Given the description of an element on the screen output the (x, y) to click on. 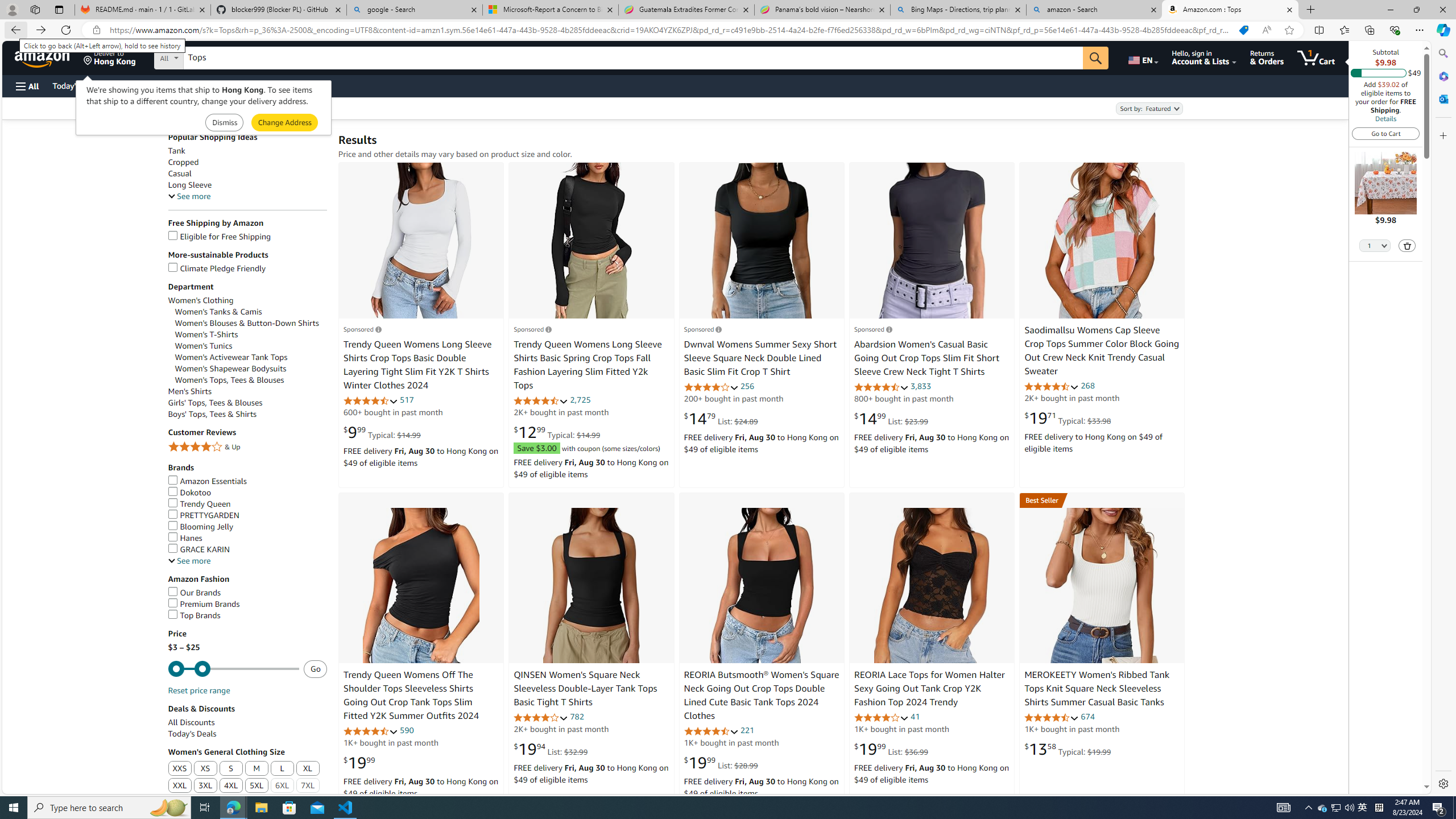
$14.99 List: $23.99 (890, 418)
Boys' Tops, Tees & Shirts (247, 414)
Today's Deals (191, 733)
4.0 out of 5 stars (880, 717)
Women's T-Shirts (206, 334)
Girls' Tops, Tees & Blouses (214, 402)
Women's Shapewear Bodysuits (230, 368)
View Sponsored information or leave ad feedback (872, 329)
PRETTYGARDEN (247, 515)
Top Brands (247, 615)
